Given the description of an element on the screen output the (x, y) to click on. 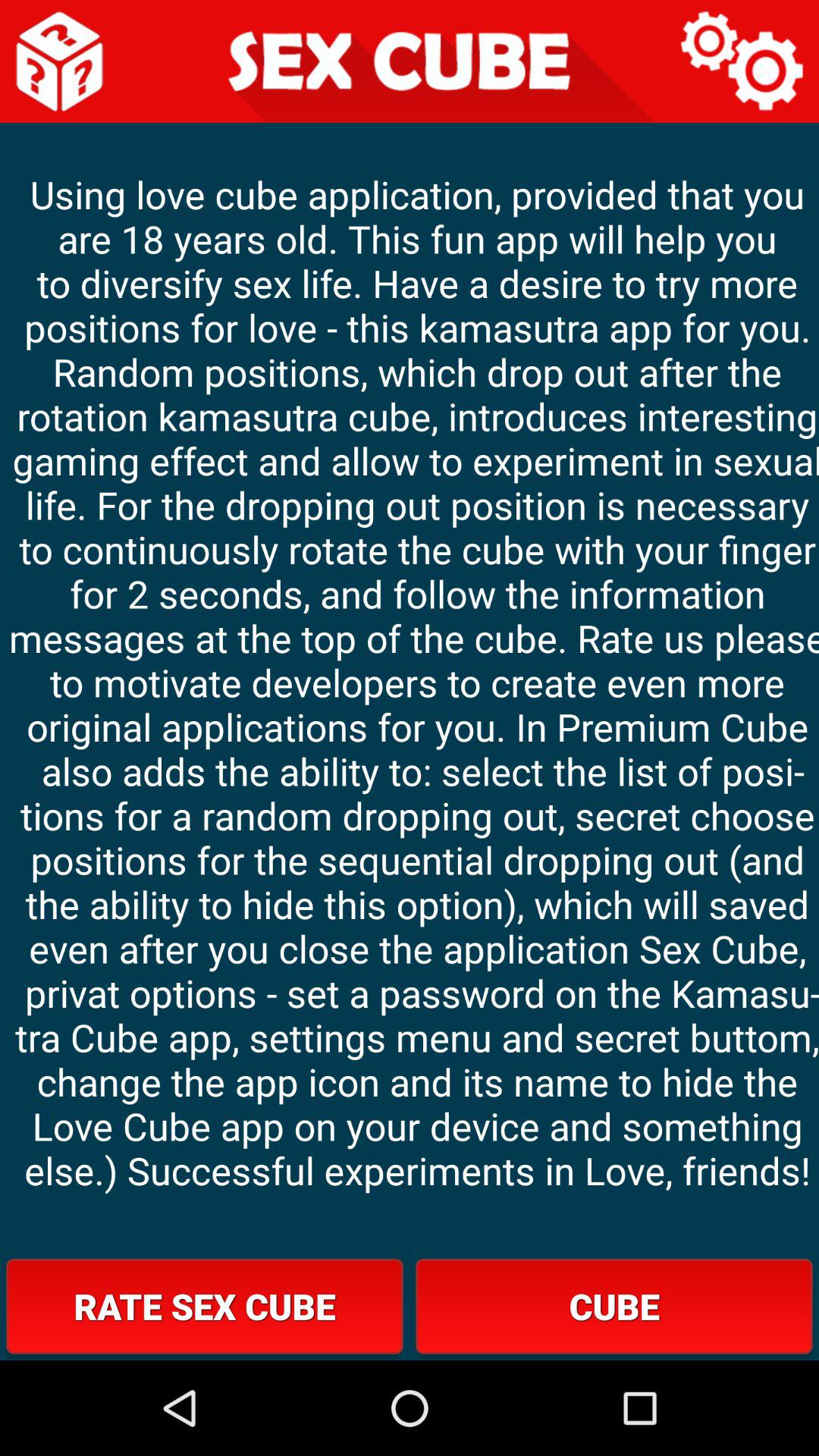
go to main page (61, 61)
